Given the description of an element on the screen output the (x, y) to click on. 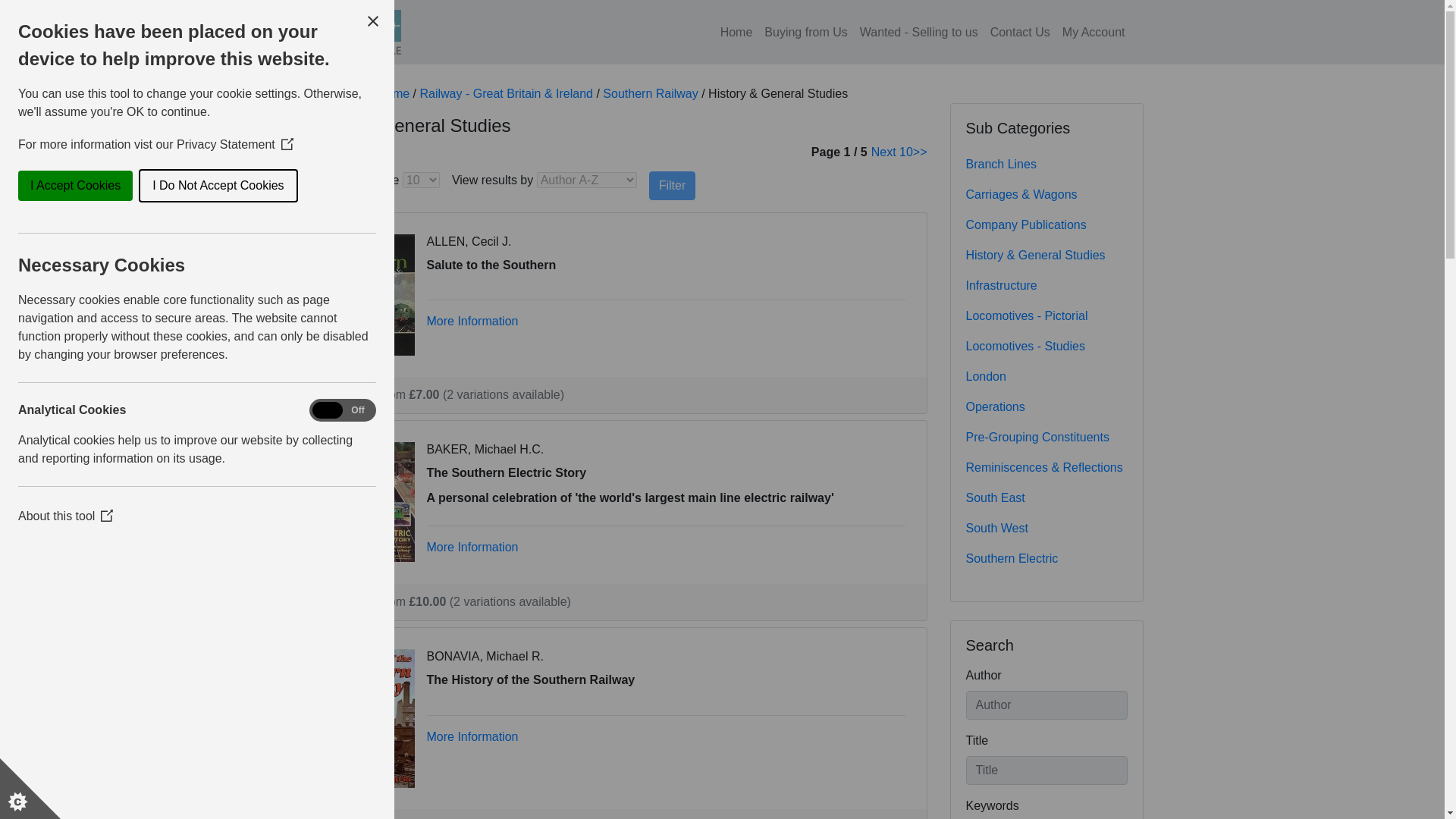
London (1046, 376)
The History of the Southern Railway  by BONAVIA, Michael R.  (368, 717)
Wanted - Selling to us (918, 31)
Locomotives - Studies (1046, 346)
Pre-Grouping Constituents (1046, 437)
Home (736, 31)
Salute to the Southern  by ALLEN, Cecil J.  (368, 293)
The Southern Electric Story  by BAKER, Michael H.C.  (368, 500)
My Account (1094, 31)
Operations (1046, 407)
Locomotives - Pictorial (1046, 316)
Branch Lines (1046, 164)
Infrastructure (1046, 286)
South West (1046, 528)
Southern Railway (649, 92)
